Given the description of an element on the screen output the (x, y) to click on. 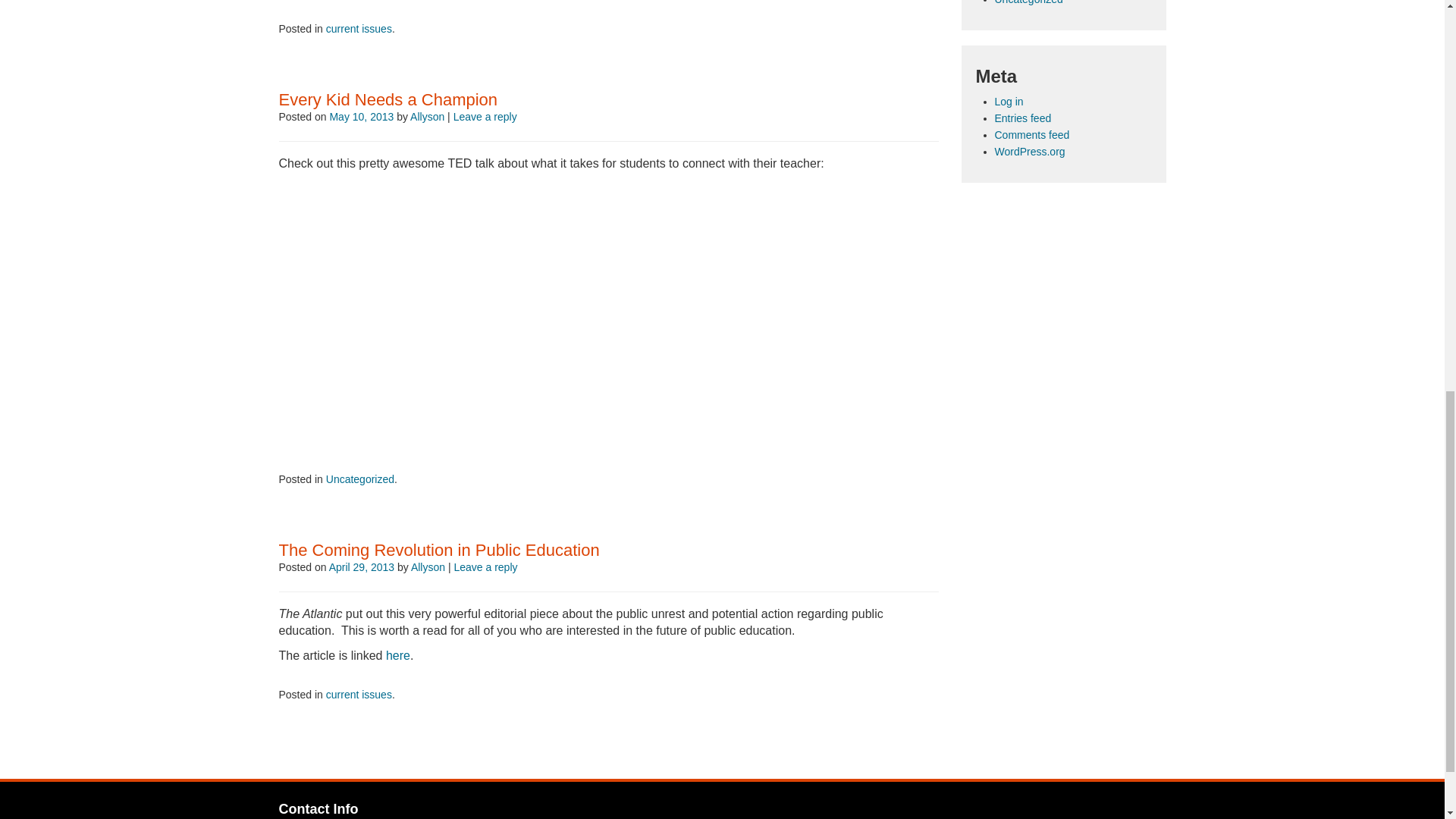
here (397, 655)
current issues (358, 28)
Allyson (427, 567)
View all posts by Allyson (427, 567)
Leave a reply (484, 116)
Permalink to The Coming Revolution in Public Education (439, 549)
Every Kid Needs a Champion (388, 99)
View all posts by Allyson (427, 116)
Allyson (427, 116)
current issues (358, 694)
